Given the description of an element on the screen output the (x, y) to click on. 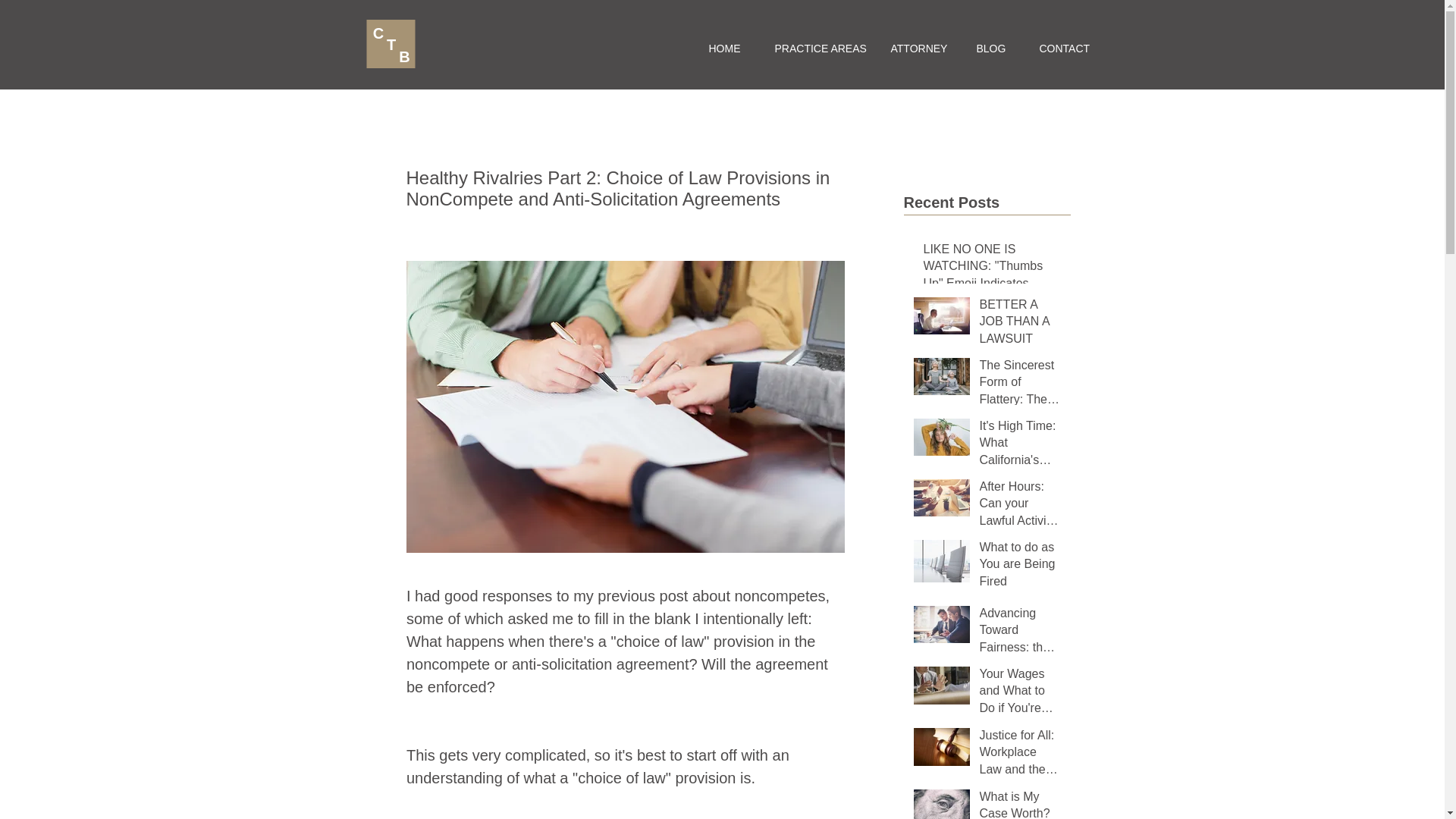
BETTER A JOB THAN A LAWSUIT (1020, 324)
What is My Case Worth? (1020, 803)
HOME (722, 48)
Justice for All: Workplace Law and the Undocumented Worker (1020, 755)
Advancing Toward Fairness: the Fair Pay Act of 2016 (1020, 633)
What to do as You are Being Fired (1020, 567)
CONTACT (1059, 48)
Your Wages and What to Do if You're Paid Incorrectly (1020, 693)
PRACTICE AREAS (812, 48)
BLOG (988, 48)
ATTORNEY (915, 48)
